Given the description of an element on the screen output the (x, y) to click on. 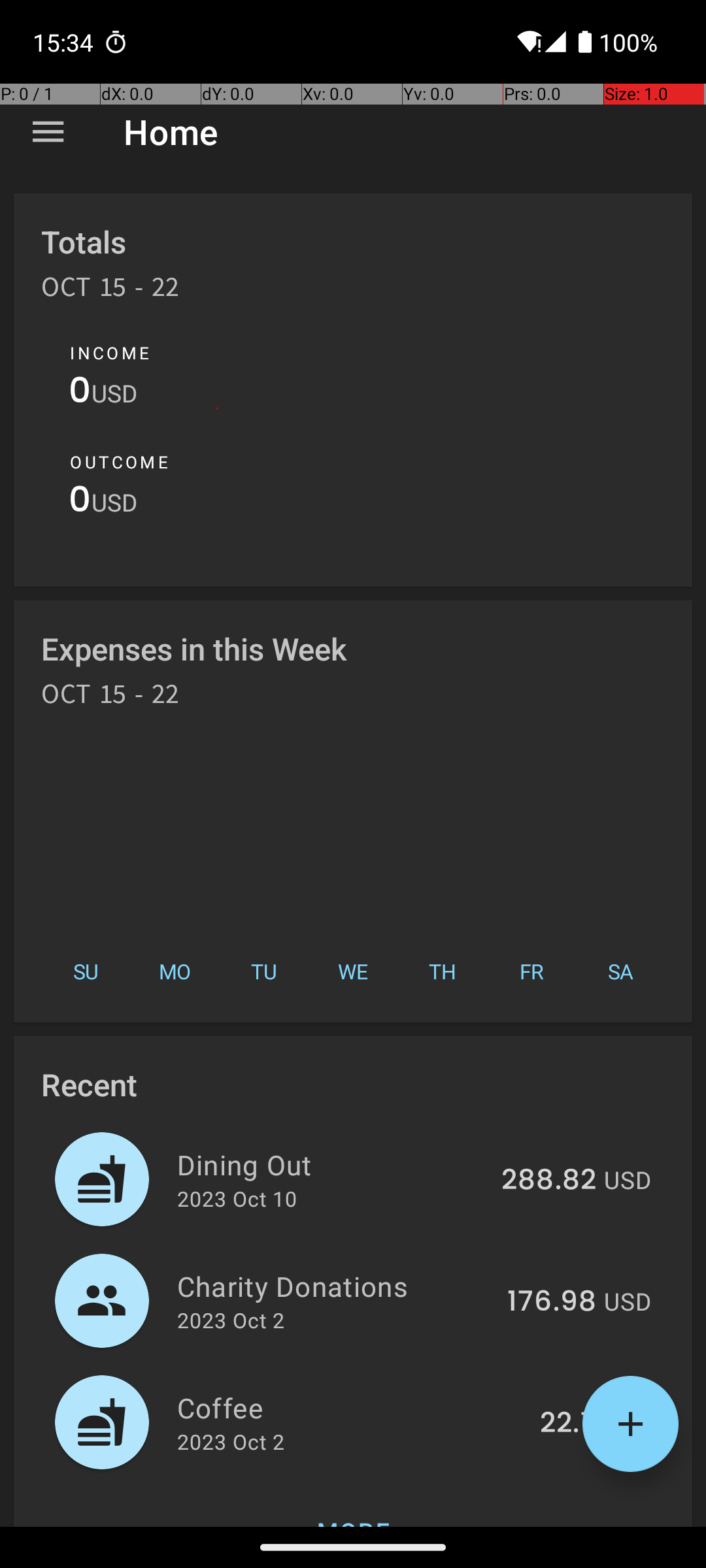
Dining Out Element type: android.widget.TextView (331, 1164)
288.82 Element type: android.widget.TextView (548, 1180)
2023 Oct 2 Element type: android.widget.TextView (230, 1320)
176.98 Element type: android.widget.TextView (551, 1301)
Coffee Element type: android.widget.TextView (350, 1407)
22.7 Element type: android.widget.TextView (567, 1423)
